Given the description of an element on the screen output the (x, y) to click on. 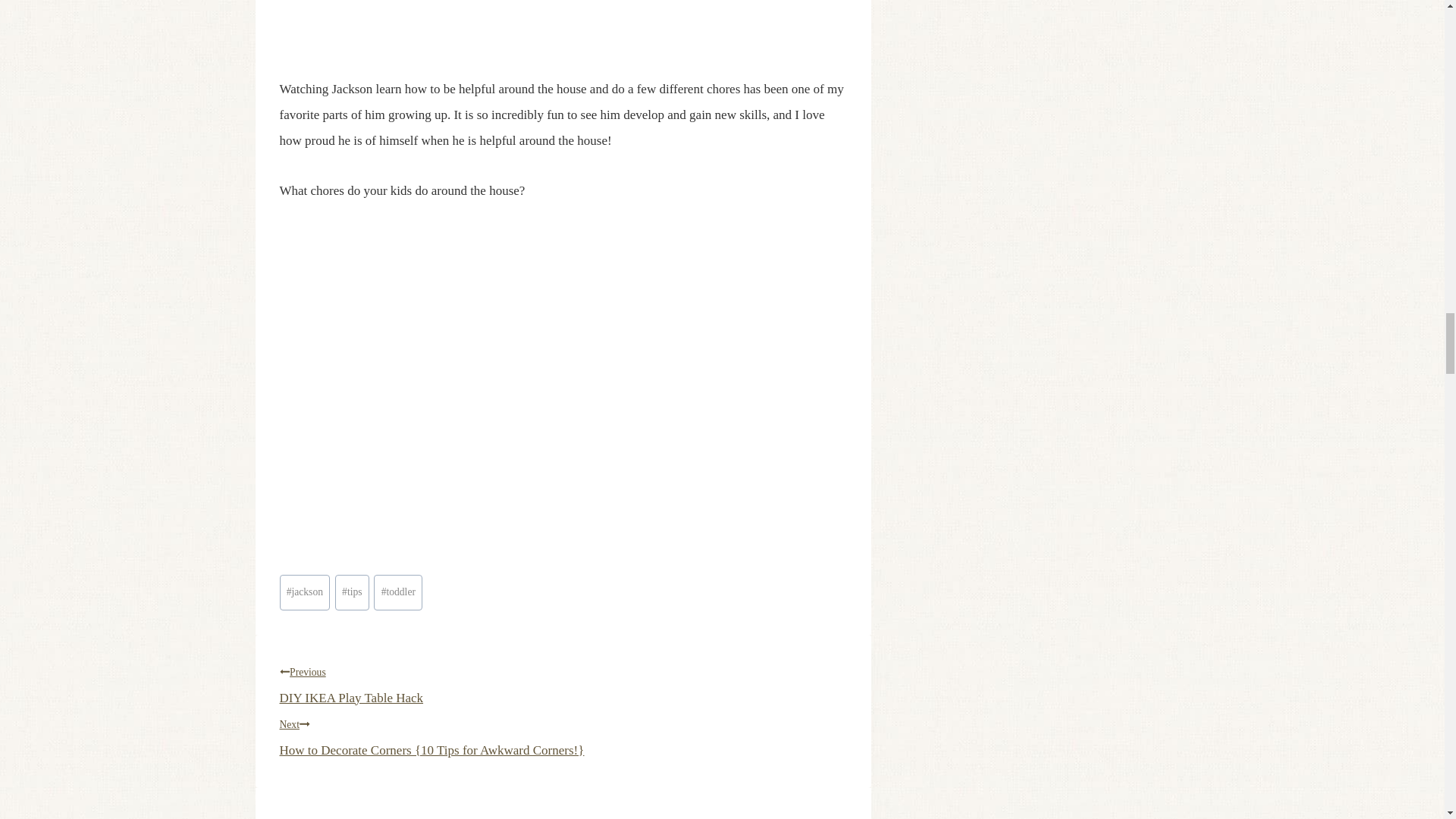
tips (351, 592)
jackson (563, 682)
toddler (304, 592)
